Given the description of an element on the screen output the (x, y) to click on. 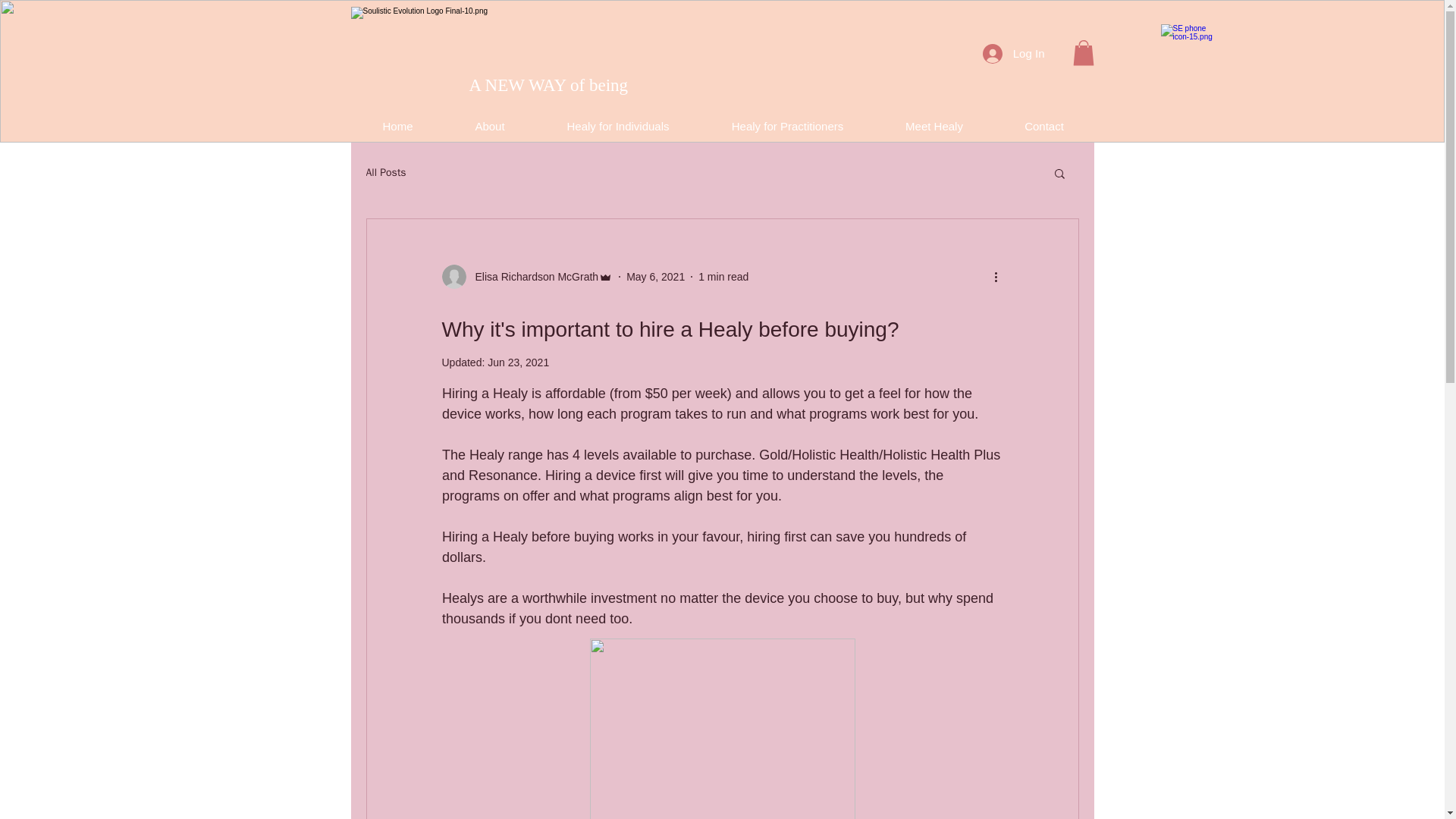
May 6, 2021 (655, 275)
About (489, 119)
1 min read (723, 275)
Meet Healy (934, 119)
Jun 23, 2021 (517, 362)
All Posts (385, 172)
Elisa Richardson McGrath (531, 276)
Contact (1043, 119)
Healy for Practitioners (787, 119)
Home (398, 119)
